Given the description of an element on the screen output the (x, y) to click on. 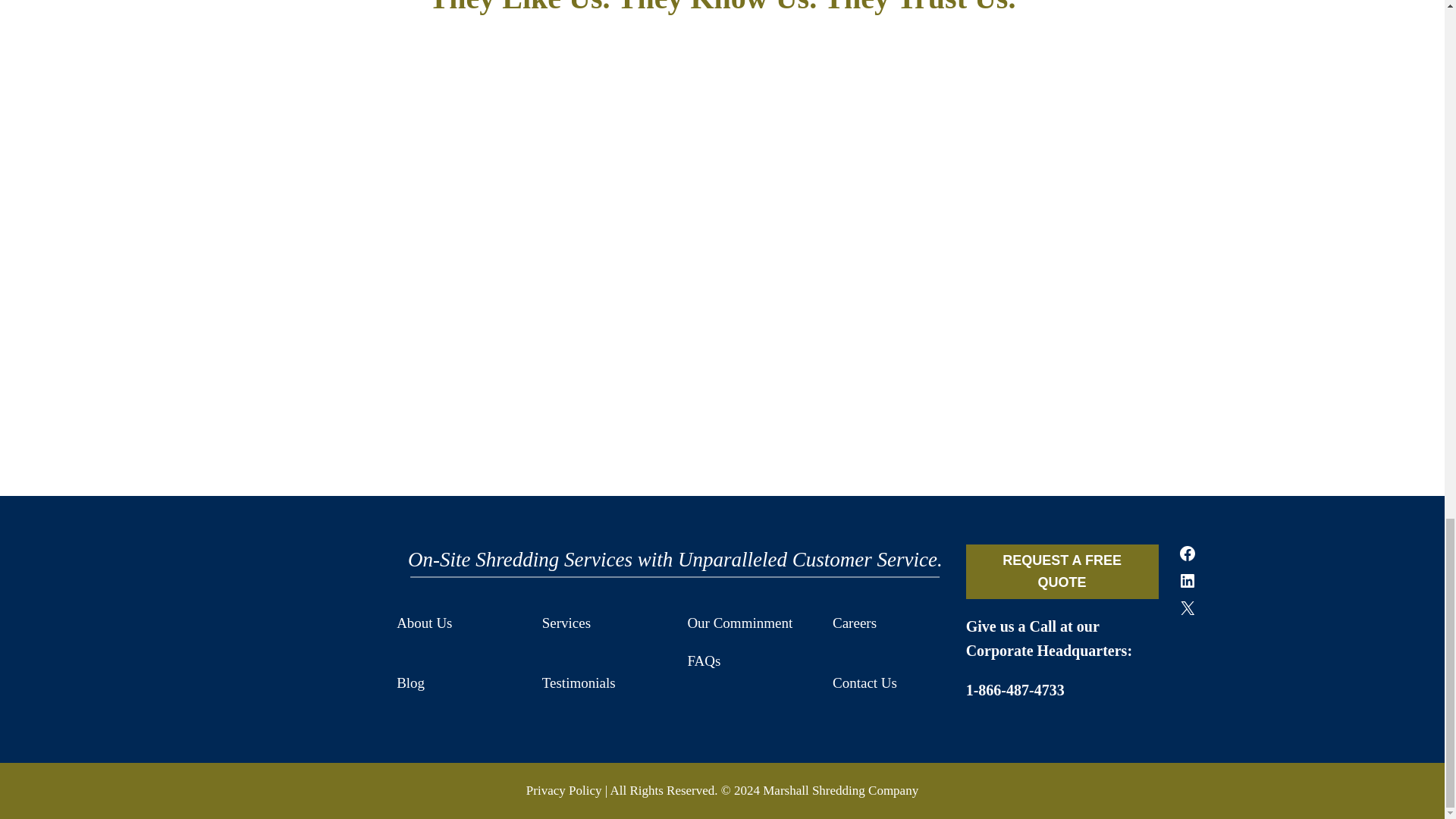
About Us (457, 622)
Testimonials (602, 682)
REQUEST A FREE QUOTE (1062, 571)
Contact Us (892, 682)
Our Comminment (747, 622)
FAQs (747, 661)
Services (602, 622)
Careers (892, 622)
Blog (457, 682)
